Given the description of an element on the screen output the (x, y) to click on. 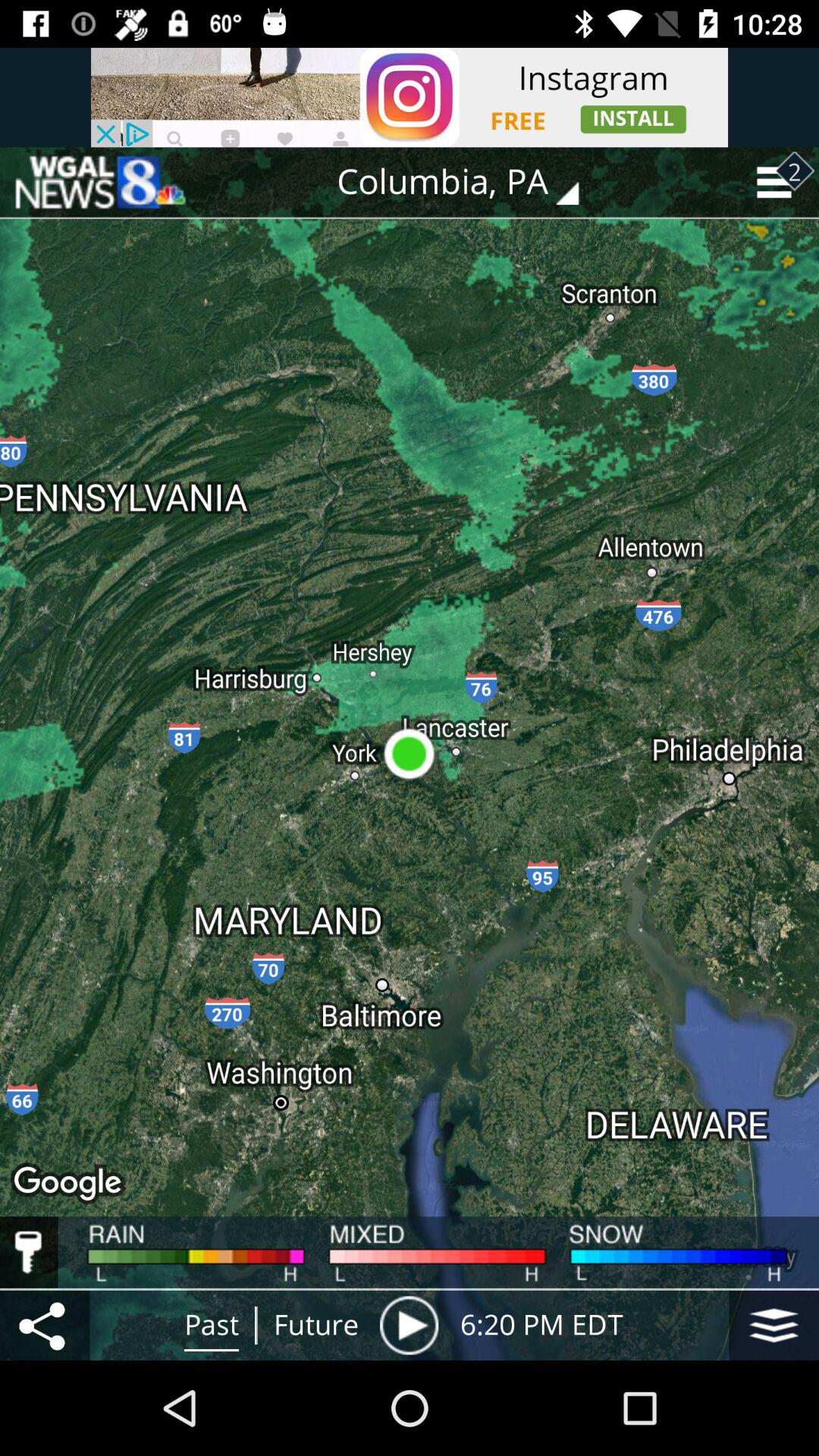
this page was advetisment (99, 182)
